Given the description of an element on the screen output the (x, y) to click on. 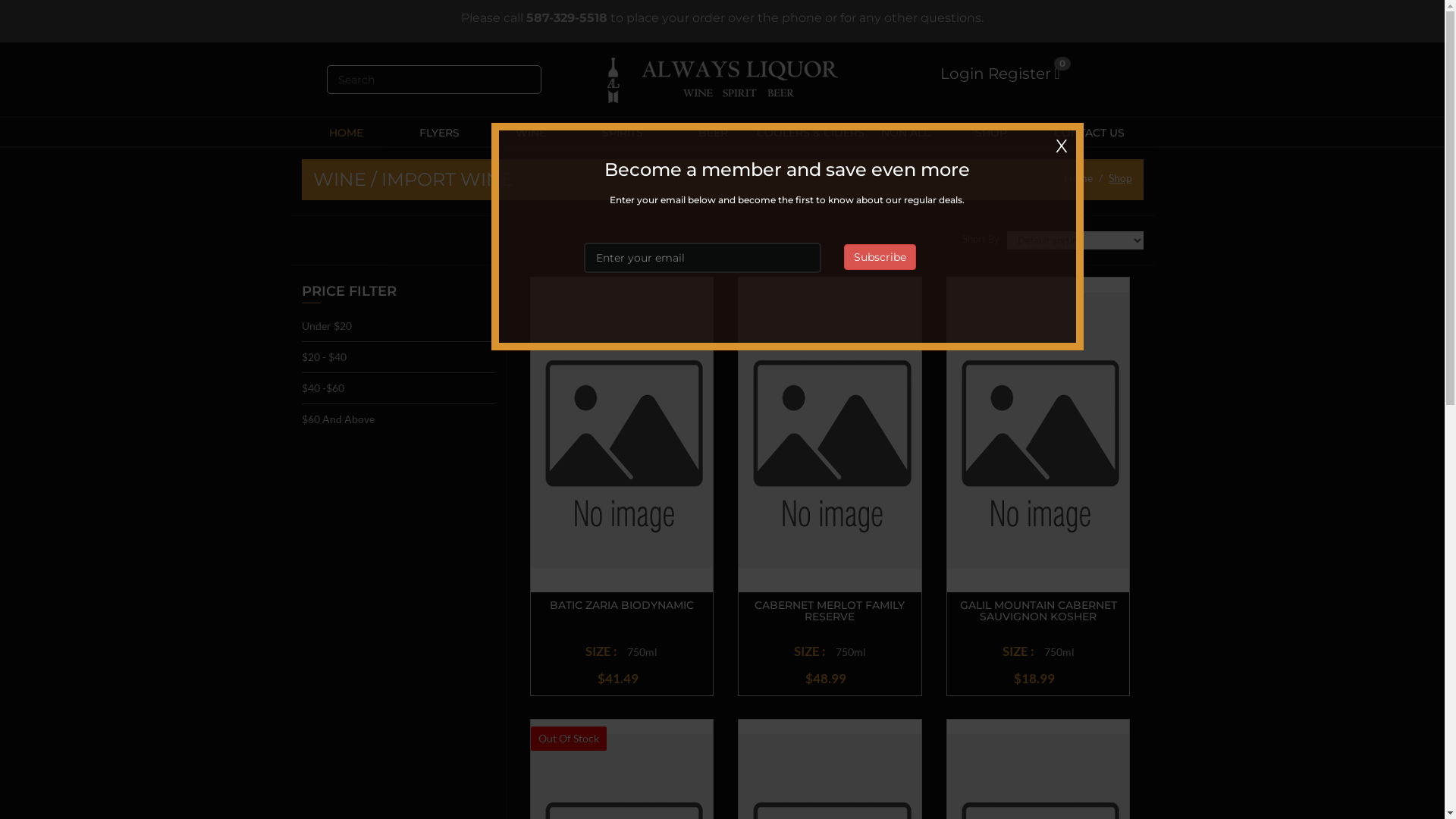
SHOP Element type: text (991, 132)
FLYERS Element type: text (439, 132)
Under $20 Element type: text (326, 325)
$60 And Above Element type: text (398, 419)
NON ALC Element type: text (906, 132)
HOME Element type: text (346, 132)
$20 - $40 Element type: text (398, 357)
WINE Element type: text (338, 179)
Register Element type: text (1019, 73)
$60 And Above Element type: text (337, 418)
CABERNET MERLOT FAMILY RESERVE Element type: text (829, 611)
Under $20 Element type: text (398, 326)
$20 - $40 Element type: text (323, 356)
BEER Element type: text (713, 132)
GALIL MOUNTAIN CABERNET SAUVIGNON KOSHER Element type: text (1038, 611)
$40 -$60 Element type: text (322, 387)
COOLERS & CIDERS Element type: text (810, 132)
WINE Element type: text (530, 132)
$40 -$60 Element type: text (398, 388)
CONTACT US Element type: text (1089, 132)
Login Element type: text (962, 73)
BATIC ZARIA BIODYNAMIC Element type: text (621, 605)
SPIRITS Element type: text (622, 132)
IMPORT WINE Element type: text (446, 179)
Home Element type: text (1077, 177)
0 Element type: text (1066, 73)
